Given the description of an element on the screen output the (x, y) to click on. 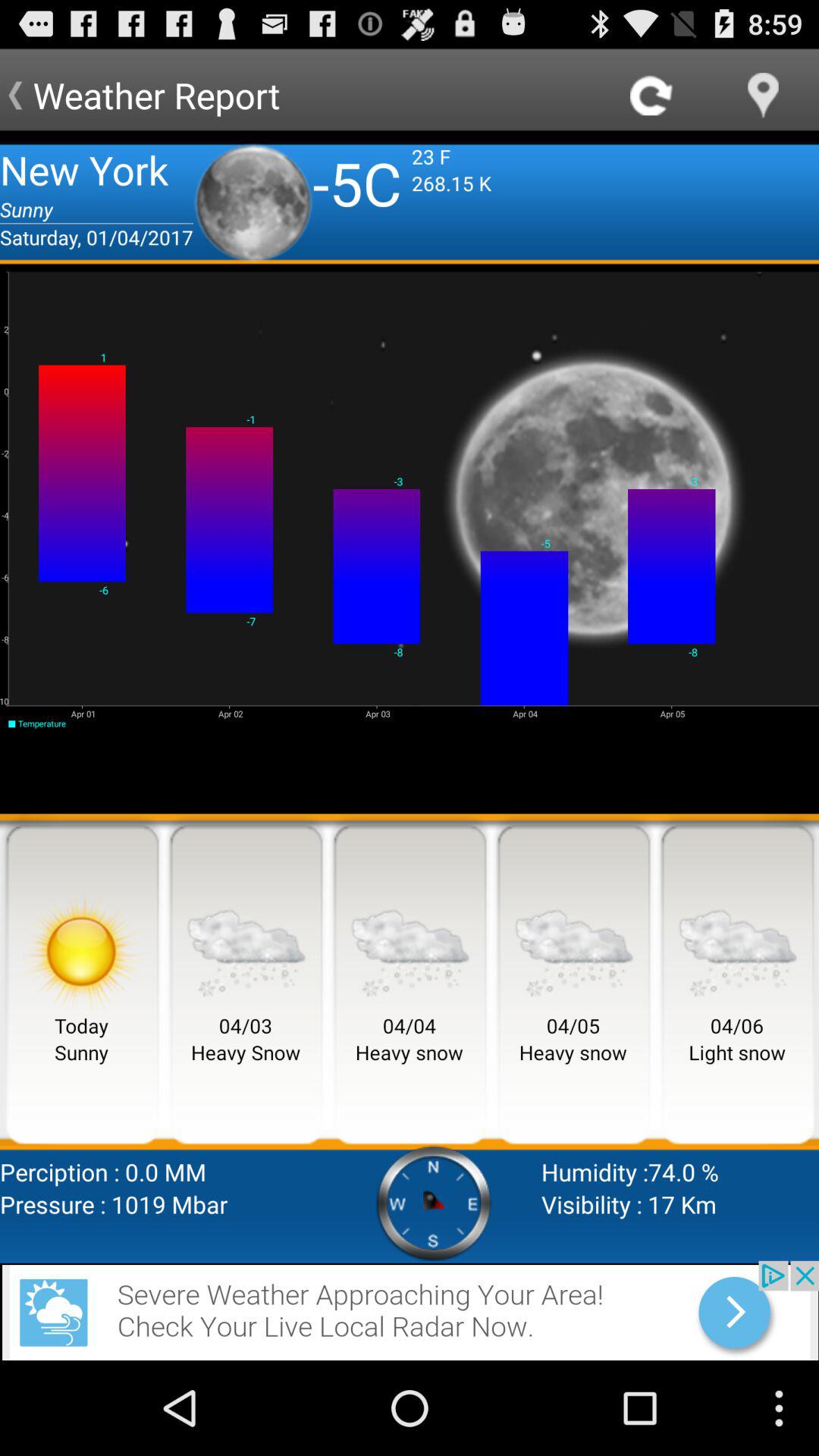
refresh option (651, 95)
